Given the description of an element on the screen output the (x, y) to click on. 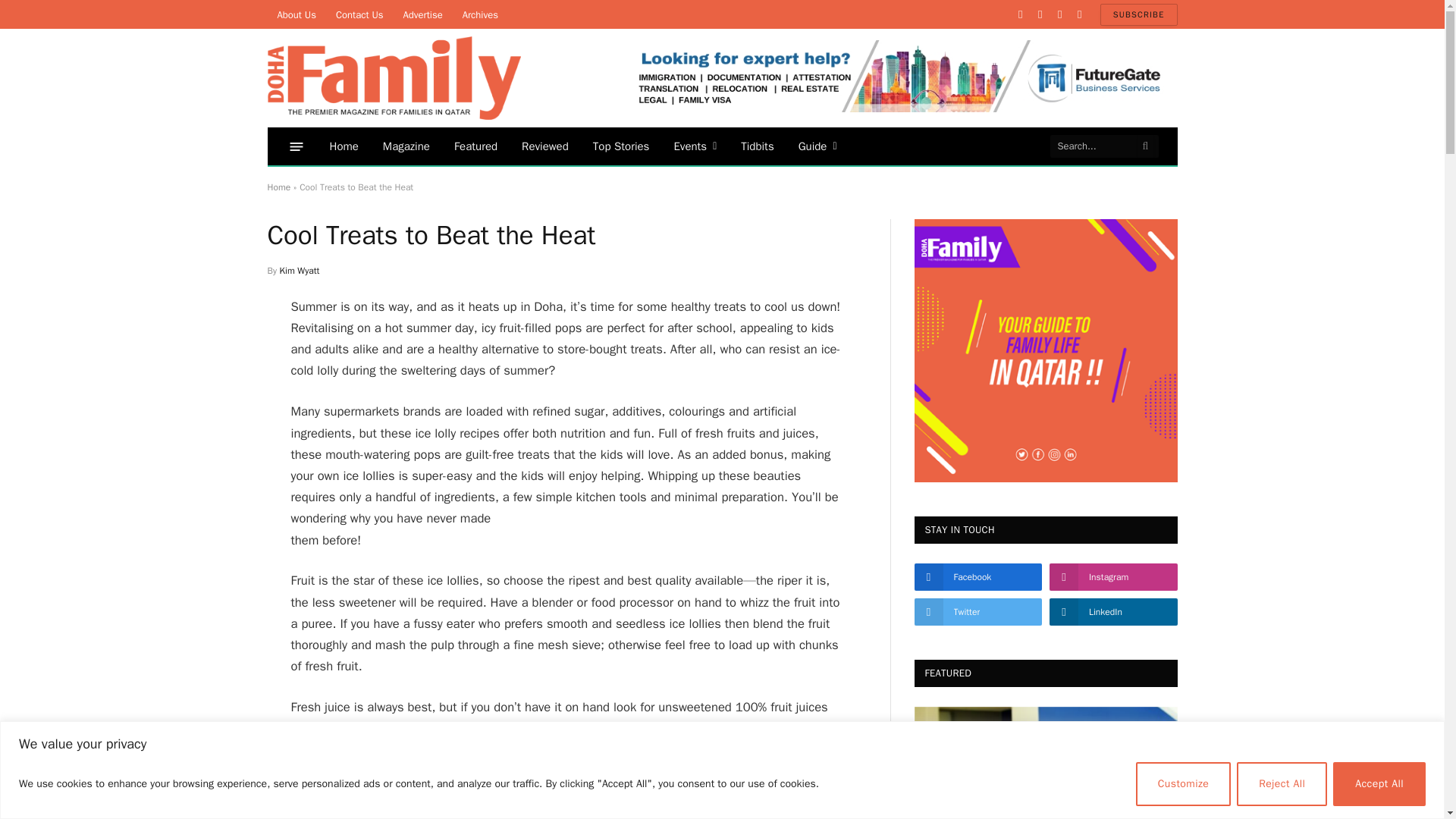
About Us (295, 14)
Contact Us (359, 14)
Reject All (1281, 783)
Archives (480, 14)
Advertise (422, 14)
Posts by Kim Wyatt (299, 270)
Doha Family Magazine (392, 77)
Accept All (1379, 783)
Customize (1183, 783)
